Given the description of an element on the screen output the (x, y) to click on. 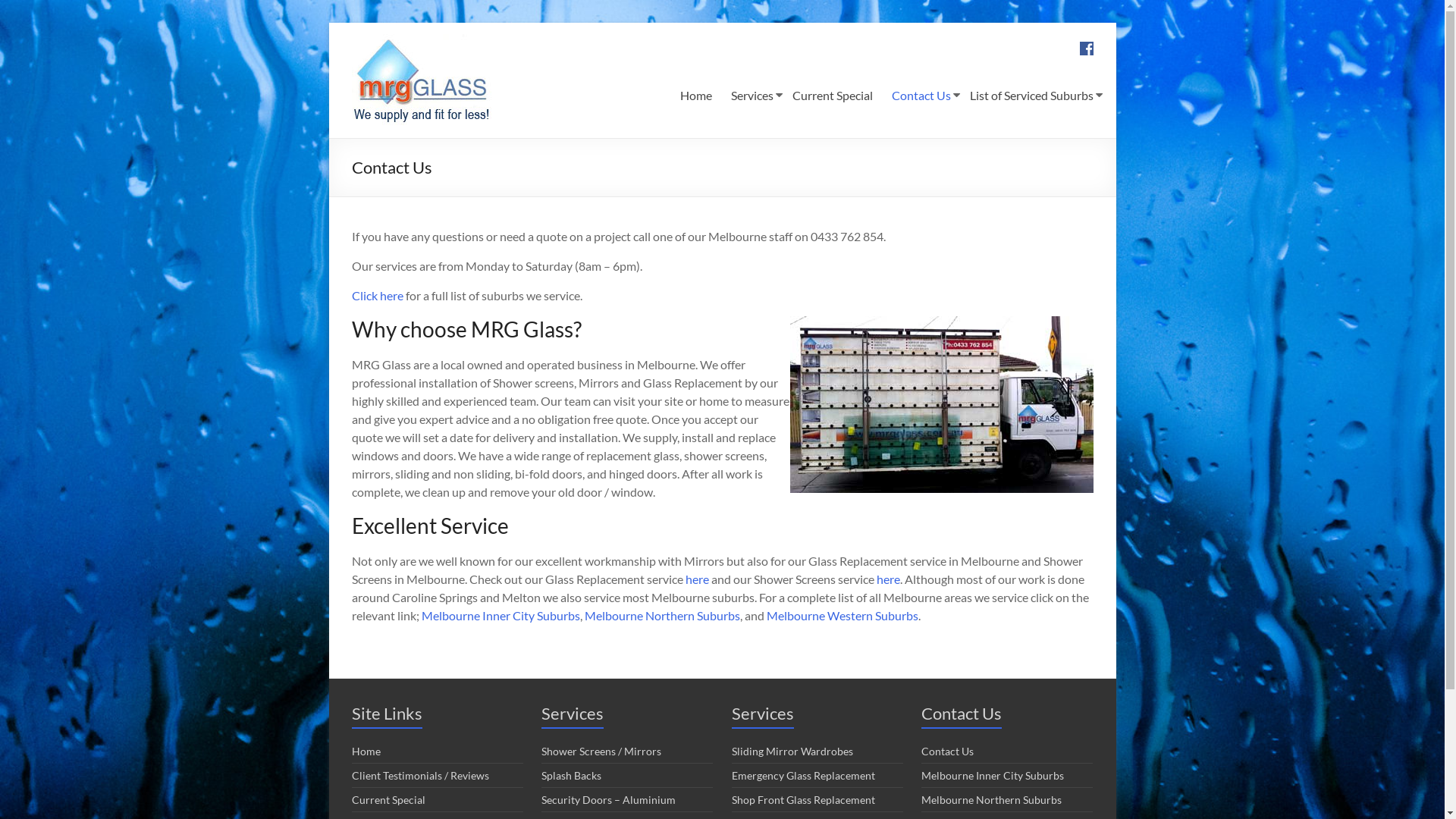
Contact Us Element type: text (947, 750)
List of Serviced Suburbs Element type: text (1030, 95)
Services Element type: text (752, 95)
Melbourne Inner City Suburbs Element type: text (992, 774)
Splash Backs Element type: text (571, 774)
Contact Us Element type: text (920, 95)
MRG Glass Element type: text (382, 68)
Shop Front Glass Replacement Element type: text (802, 799)
Client Testimonials / Reviews Element type: text (420, 774)
Click here Element type: text (377, 295)
Current Special Element type: text (388, 799)
Home Element type: text (365, 750)
Melbourne Western Suburbs Element type: text (841, 615)
Melbourne Northern Suburbs Element type: text (991, 799)
Home Element type: text (695, 95)
Skip to content Element type: text (327, 21)
Sliding Mirror Wardrobes Element type: text (791, 750)
Current Special Element type: text (831, 95)
here Element type: text (888, 578)
Melbourne Northern Suburbs Element type: text (661, 615)
Melbourne Inner City Suburbs Element type: text (500, 615)
Emergency Glass Replacement Element type: text (802, 774)
Shower Screens / Mirrors Element type: text (601, 750)
here Element type: text (697, 578)
